Given the description of an element on the screen output the (x, y) to click on. 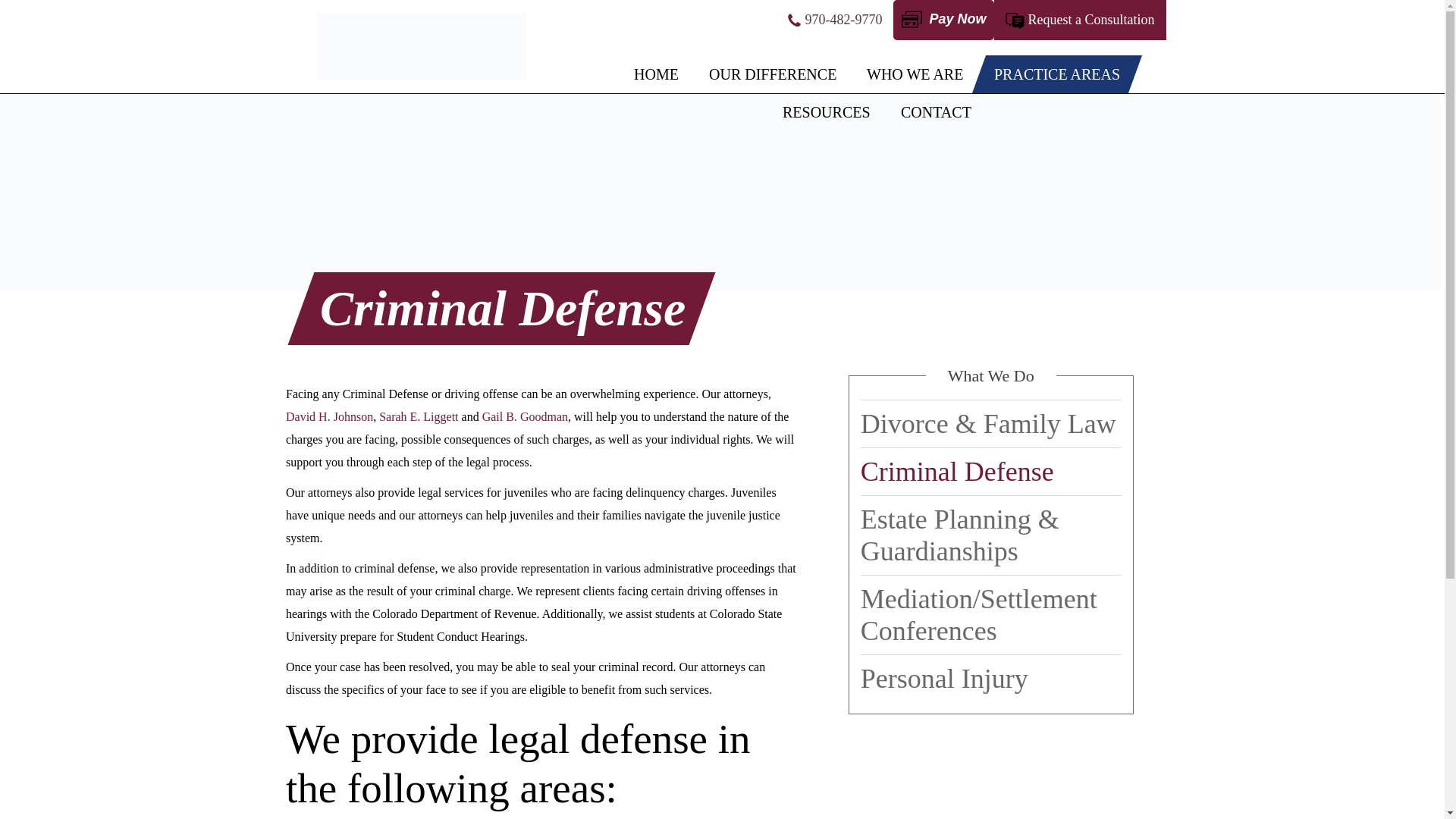
Sarah E. Liggett (418, 416)
Request a Consultation (1090, 19)
David H. Johnson (328, 416)
RESOURCES (826, 112)
WHO WE ARE (914, 74)
Criminal Defense (990, 471)
Personal Injury (990, 678)
Pay Now (942, 20)
PRACTICE AREAS (1056, 74)
Gail B. Goodman (524, 416)
OUR DIFFERENCE (772, 74)
970-482-9770 (843, 19)
HOME (656, 74)
CONTACT (936, 112)
